Given the description of an element on the screen output the (x, y) to click on. 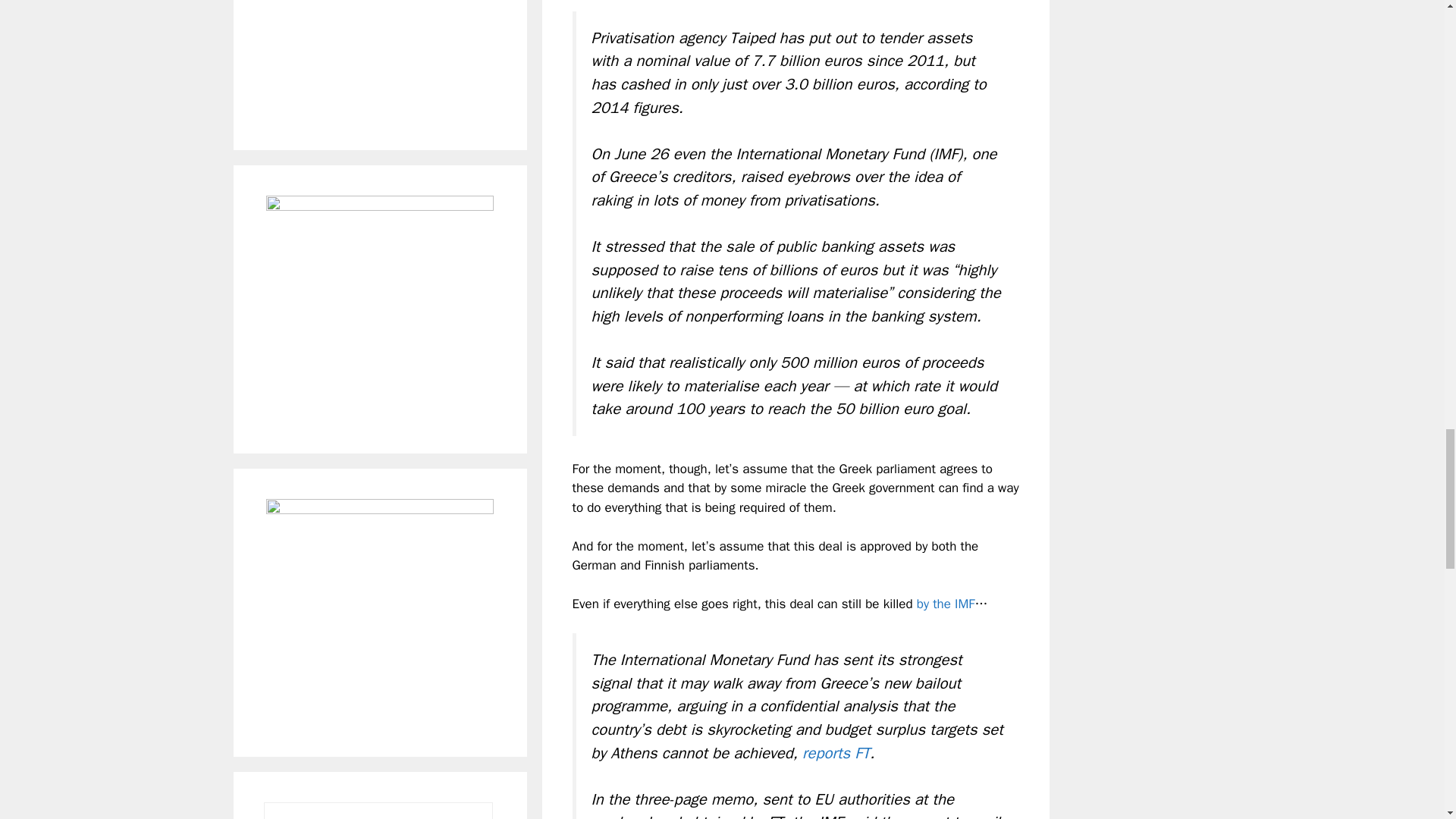
reports FT (835, 752)
by the IMF (946, 603)
